Given the description of an element on the screen output the (x, y) to click on. 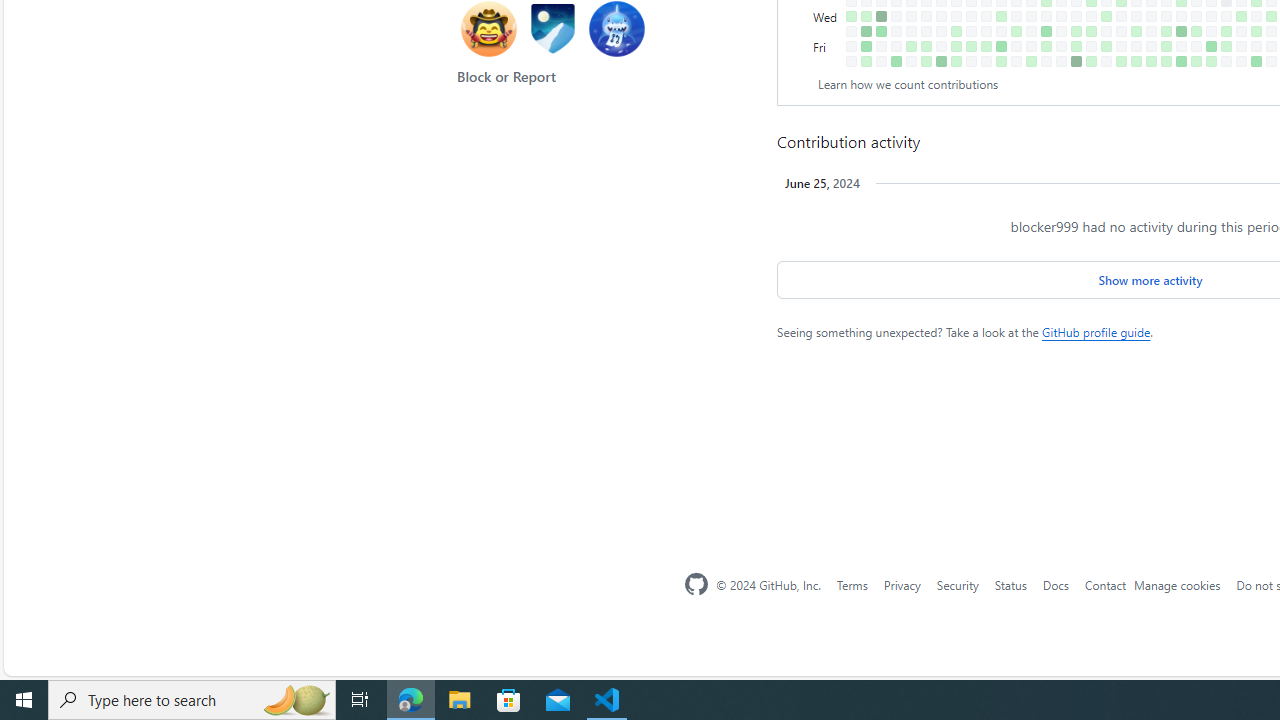
1 contribution on May 16th. (1136, 30)
Wednesday (827, 16)
1 contribution on May 3rd. (1106, 46)
